Given the description of an element on the screen output the (x, y) to click on. 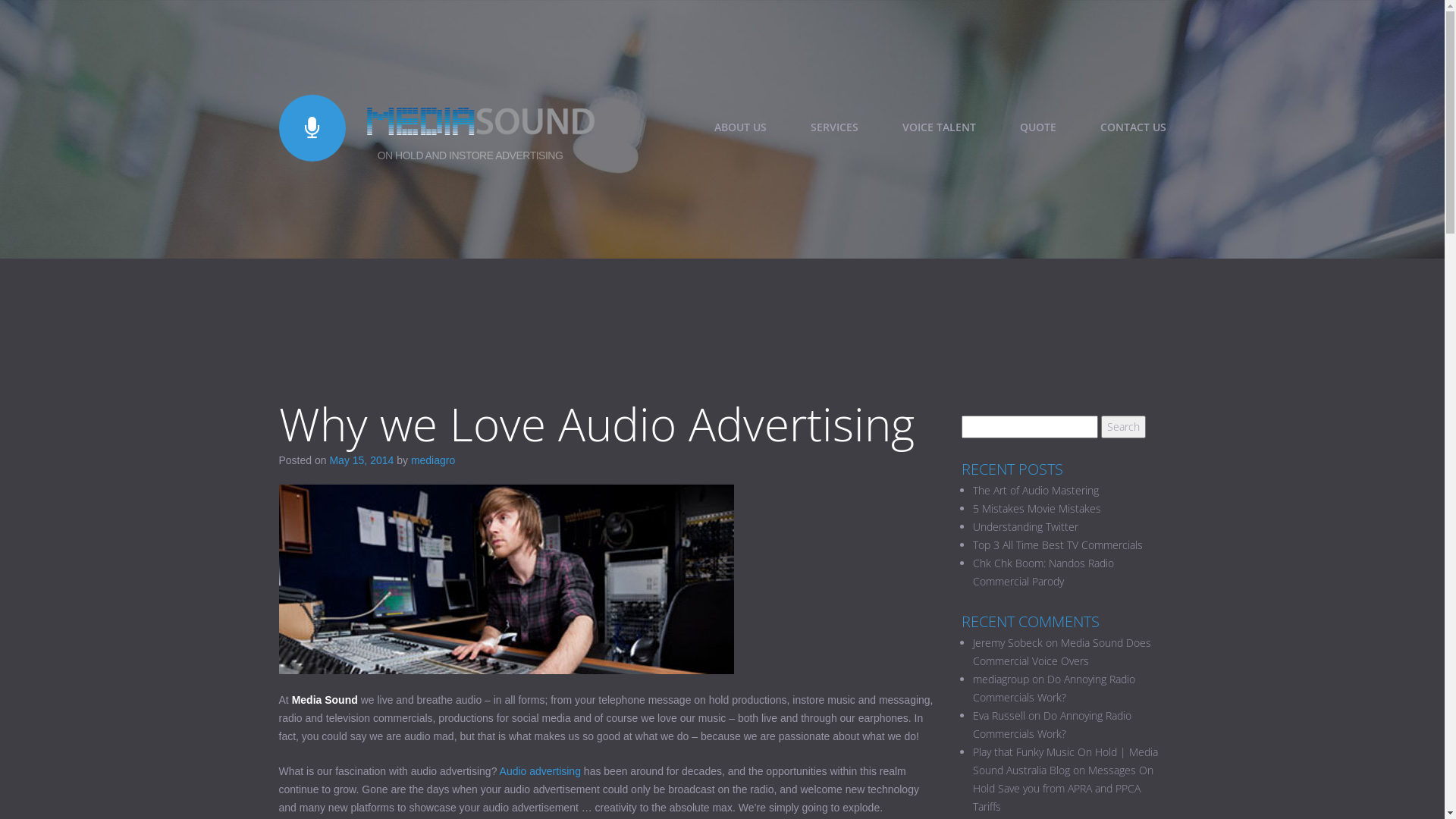
ABOUT US Element type: text (740, 127)
Understanding Twitter Element type: text (1024, 526)
The Art of Audio Mastering Element type: text (1035, 490)
Messages On Hold Save you from APRA and PPCA Tariffs Element type: text (1062, 787)
Do Annoying Radio Commercials Work? Element type: text (1053, 687)
CONTACT US Element type: text (1132, 127)
Play that Funky Music On Hold | Media Sound Australia Blog Element type: text (1064, 760)
Audio advertising Element type: text (539, 771)
QUOTE Element type: text (1037, 127)
May 15, 2014 Element type: text (361, 460)
Do Annoying Radio Commercials Work? Element type: text (1051, 724)
Media Sound Does Commercial Voice Overs Element type: text (1061, 651)
SERVICES Element type: text (833, 127)
Search Element type: text (1123, 426)
VOICE TALENT Element type: text (938, 127)
mediagro Element type: text (433, 460)
5 Mistakes Movie Mistakes Element type: text (1036, 508)
Top 3 All Time Best TV Commercials Element type: text (1057, 544)
Chk Chk Boom: Nandos Radio Commercial Parody Element type: text (1042, 571)
